Given the description of an element on the screen output the (x, y) to click on. 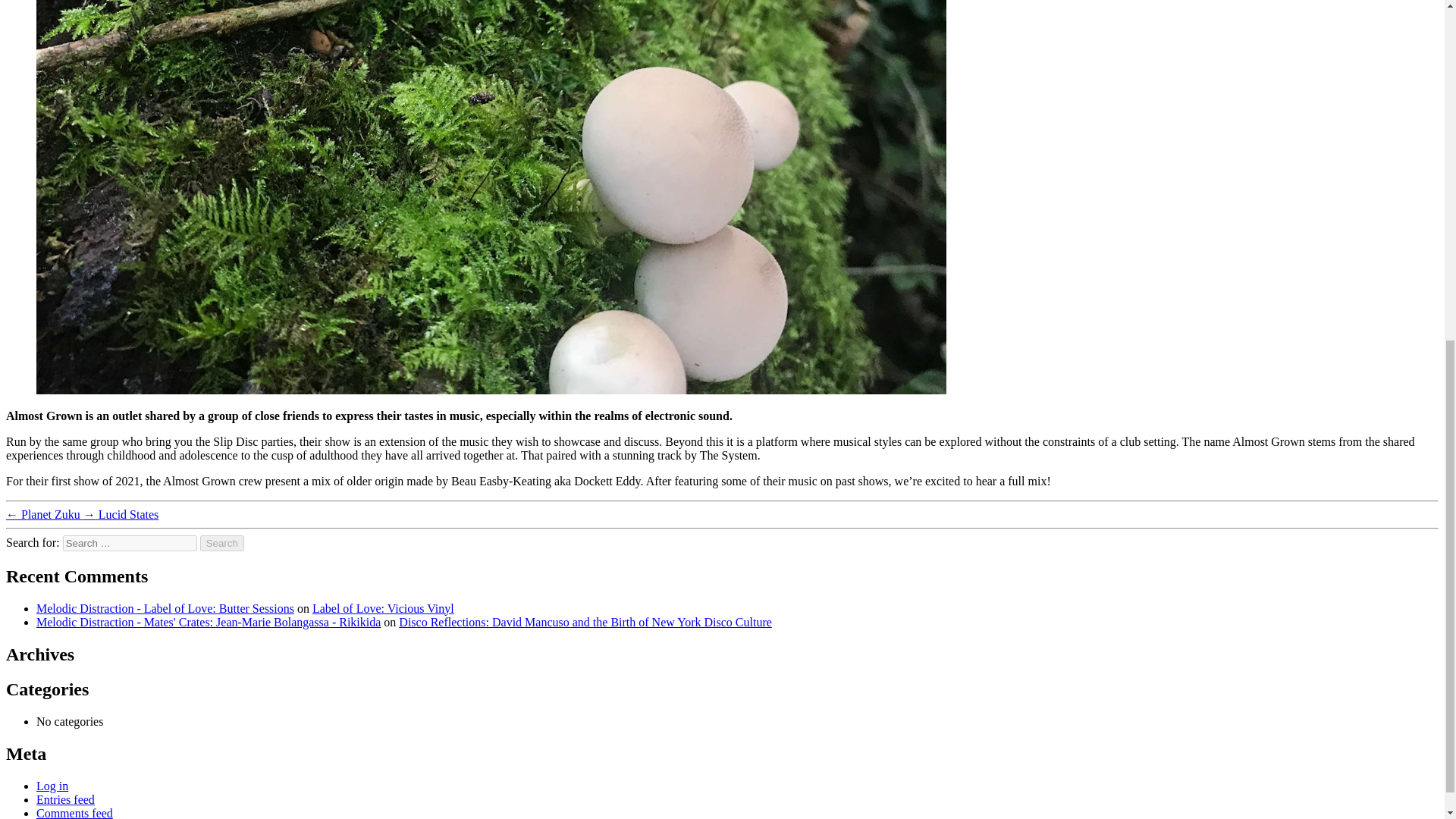
Label of Love: Vicious Vinyl (383, 608)
Melodic Distraction - Label of Love: Butter Sessions (165, 608)
Search (222, 543)
Search (222, 543)
Entries feed (65, 799)
Log in (52, 785)
Search (222, 543)
